Given the description of an element on the screen output the (x, y) to click on. 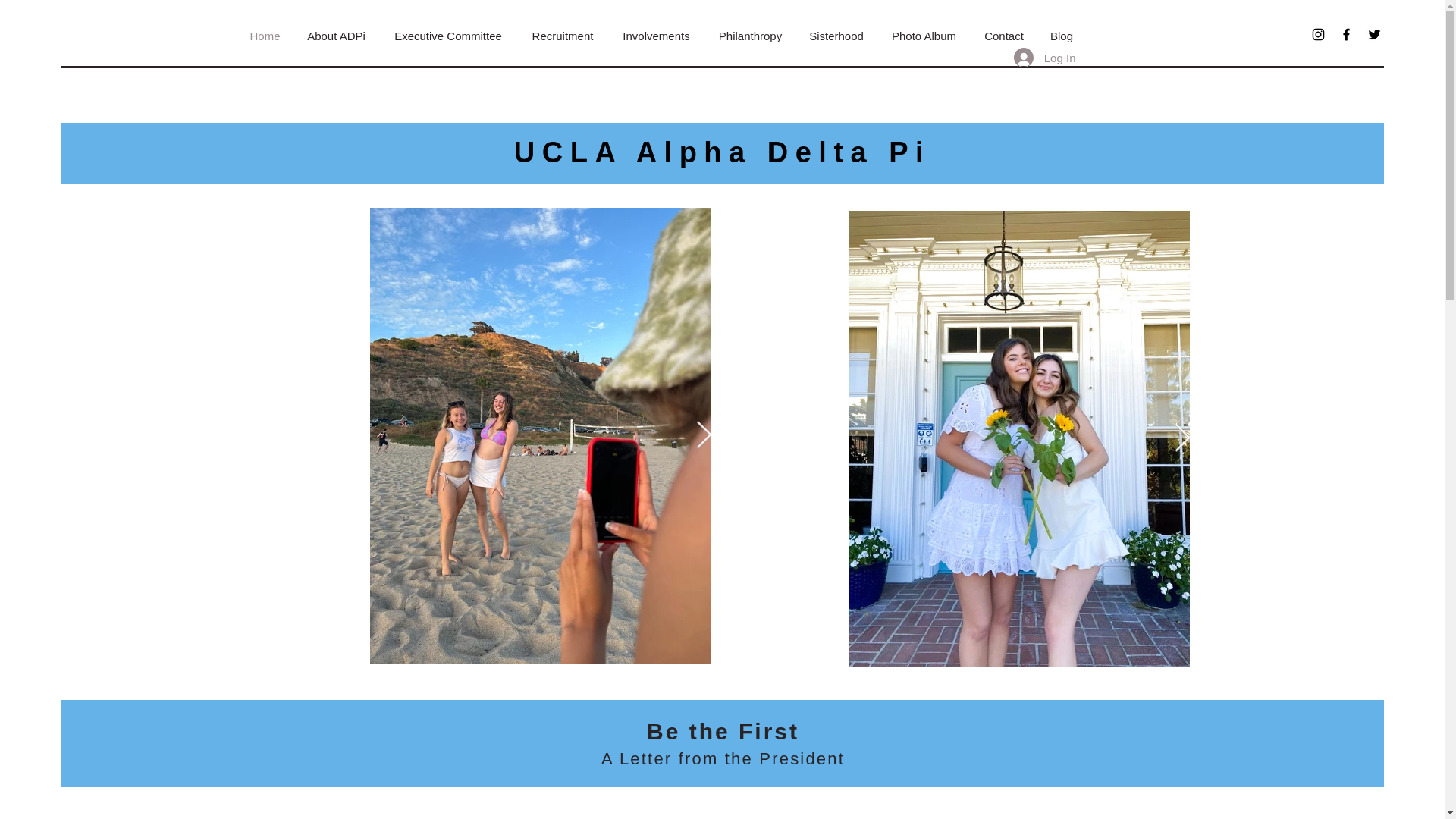
Blog (1061, 35)
Sisterhood (836, 35)
Log In (1044, 57)
Executive Committee (448, 35)
Photo Album (923, 35)
Involvements (656, 35)
Home (264, 35)
UCLA Alpha Delta Pi (721, 152)
Contact (1003, 35)
Philanthropy (750, 35)
